Given the description of an element on the screen output the (x, y) to click on. 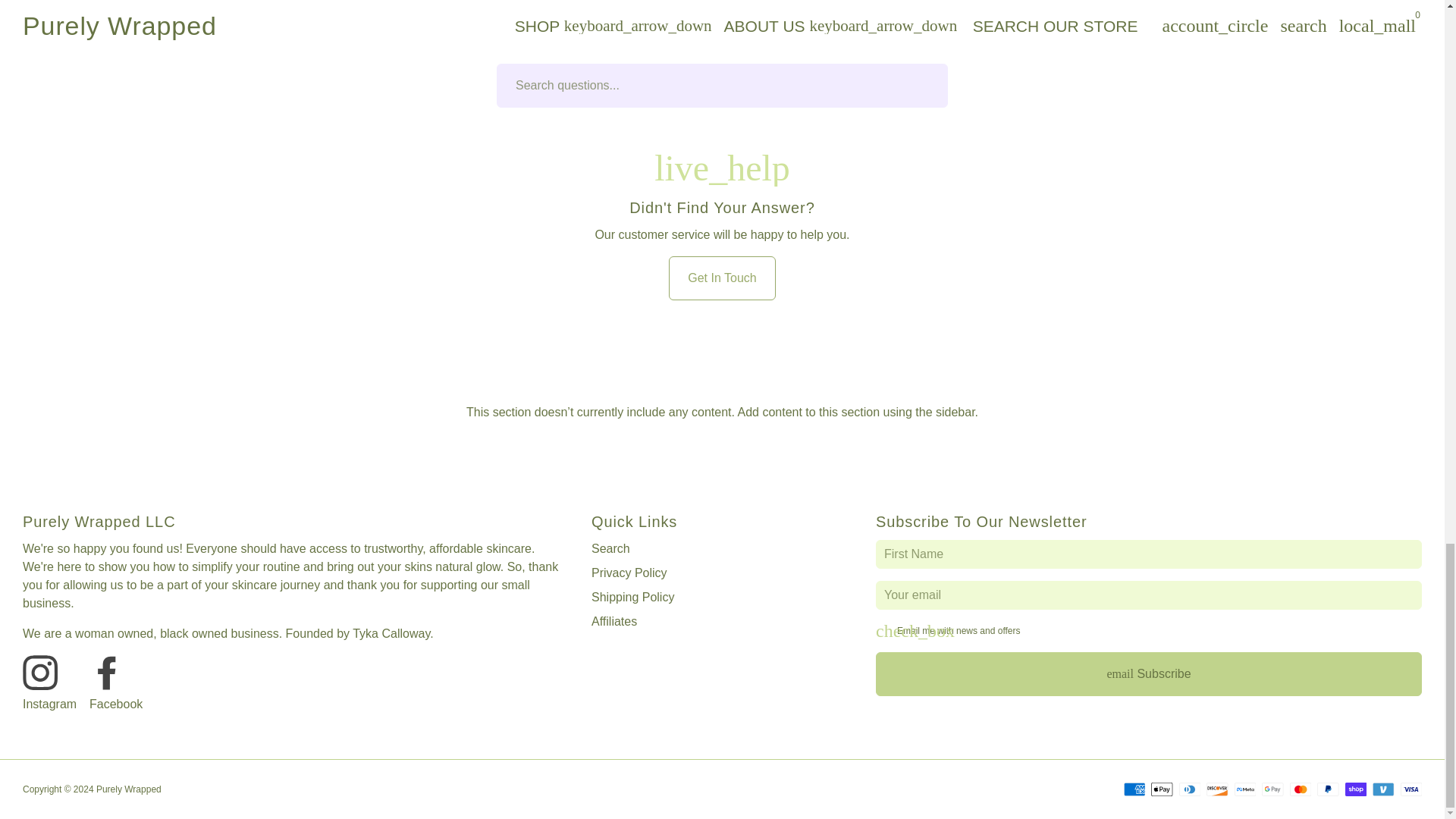
Diners Club (1188, 789)
Apple Pay (1161, 789)
American Express (1134, 789)
Discover (1217, 789)
Meta Pay (1245, 789)
